Given the description of an element on the screen output the (x, y) to click on. 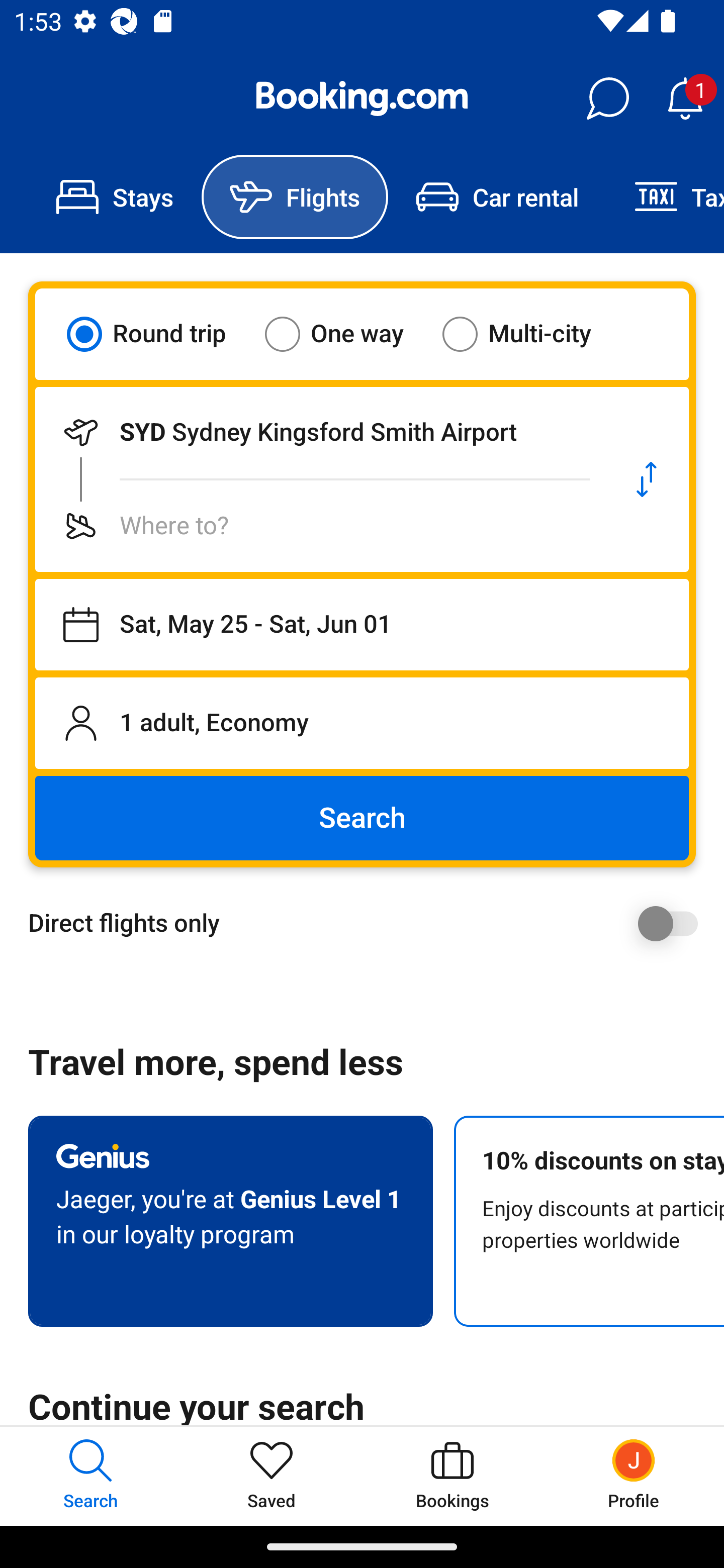
Messages (607, 98)
Notifications (685, 98)
Stays (114, 197)
Flights (294, 197)
Car rental (497, 197)
Taxi (665, 197)
One way (346, 333)
Multi-city (528, 333)
Departing from SYD Sydney Kingsford Smith Airport (319, 432)
Swap departure location and destination (646, 479)
Flying to  (319, 525)
Departing on Sat, May 25, returning on Sat, Jun 01 (361, 624)
1 adult, Economy (361, 722)
Search (361, 818)
Direct flights only (369, 923)
Saved (271, 1475)
Bookings (452, 1475)
Profile (633, 1475)
